Given the description of an element on the screen output the (x, y) to click on. 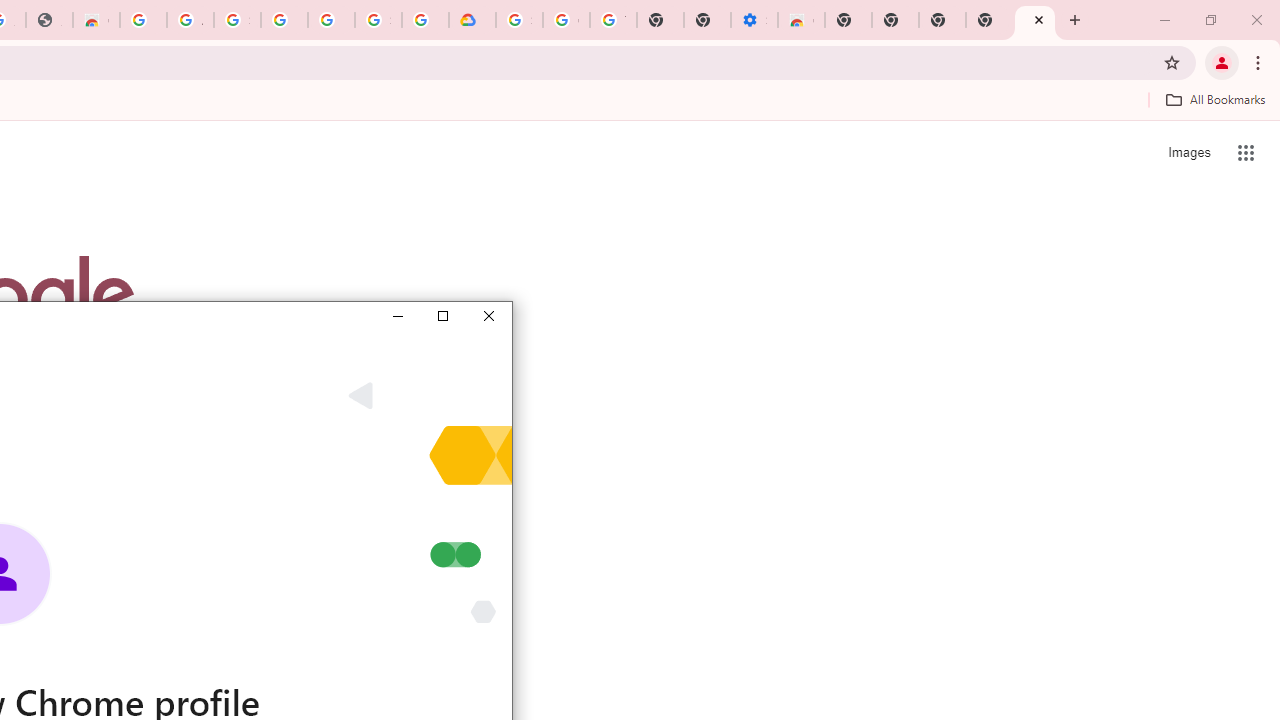
Sign in - Google Accounts (237, 20)
Ad Settings (189, 20)
All Bookmarks (1215, 99)
New Tab (1035, 20)
Turn cookies on or off - Computer - Google Account Help (613, 20)
Maximize (442, 316)
Settings - Accessibility (754, 20)
Chrome Web Store - Household (96, 20)
Sign in - Google Accounts (518, 20)
